Given the description of an element on the screen output the (x, y) to click on. 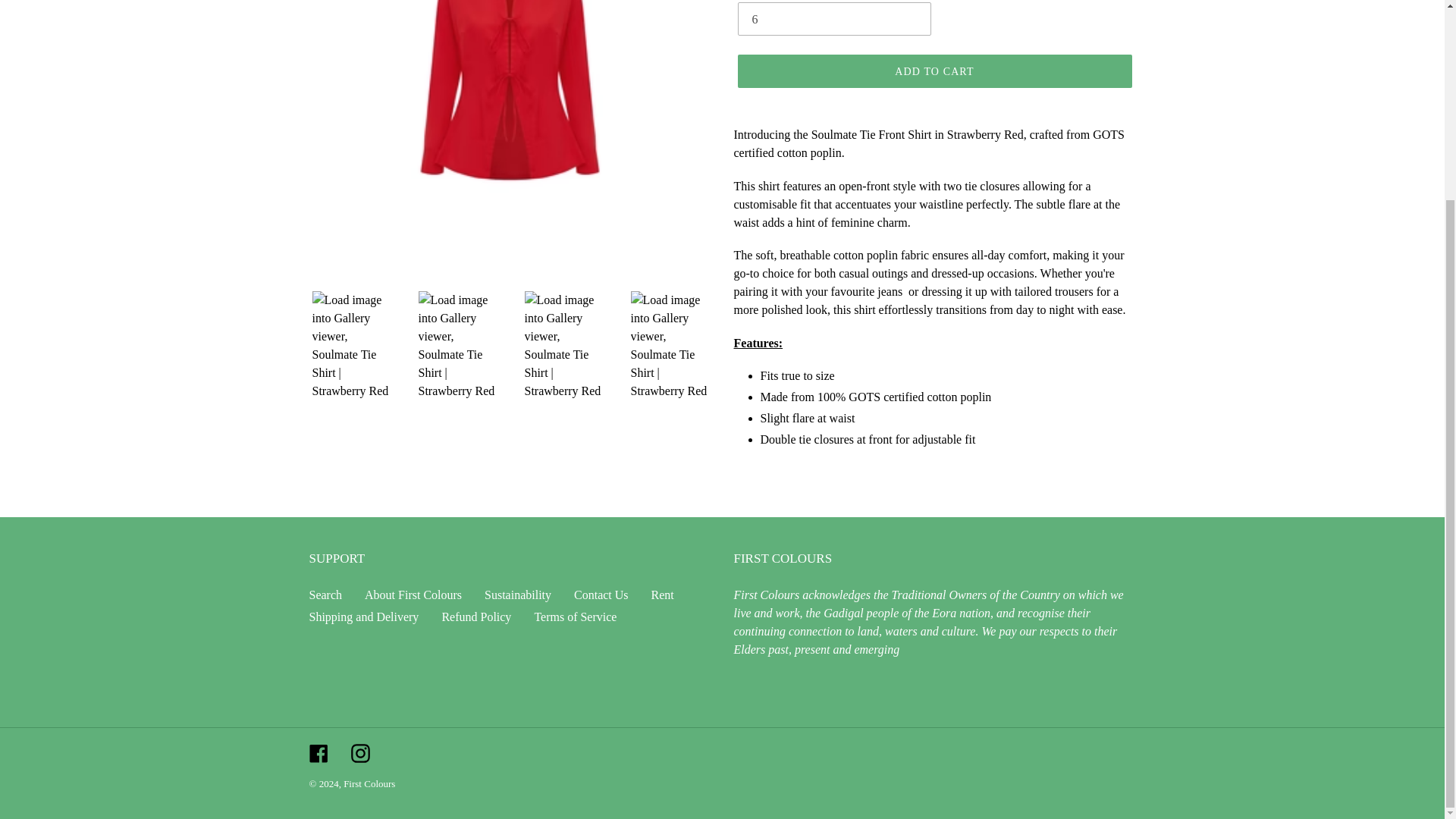
ADD TO CART (933, 70)
Facebook (318, 752)
Shipping and Delivery (363, 616)
Search (325, 594)
Refund Policy (476, 616)
About First Colours (413, 594)
Rent (662, 594)
Contact Us (600, 594)
Sustainability (517, 594)
Terms of Service (574, 616)
